Given the description of an element on the screen output the (x, y) to click on. 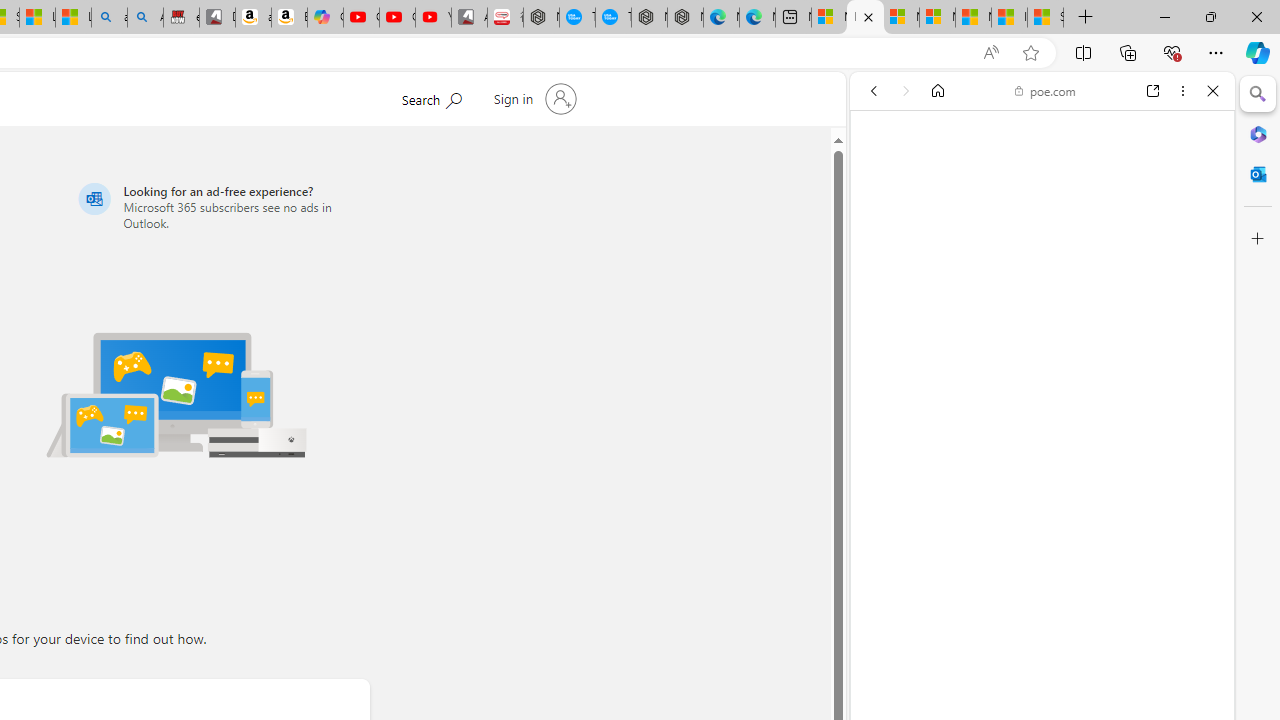
Illustration of multiple devices (176, 394)
Open link in new tab (1153, 91)
Fast, Helpful AI Chat (1042, 453)
This site scope (936, 180)
WEB   (882, 228)
Preferences (1189, 228)
Outlook (1258, 174)
SEARCH TOOLS (1093, 228)
IMAGES (939, 228)
The most popular Google 'how to' searches (613, 17)
